Given the description of an element on the screen output the (x, y) to click on. 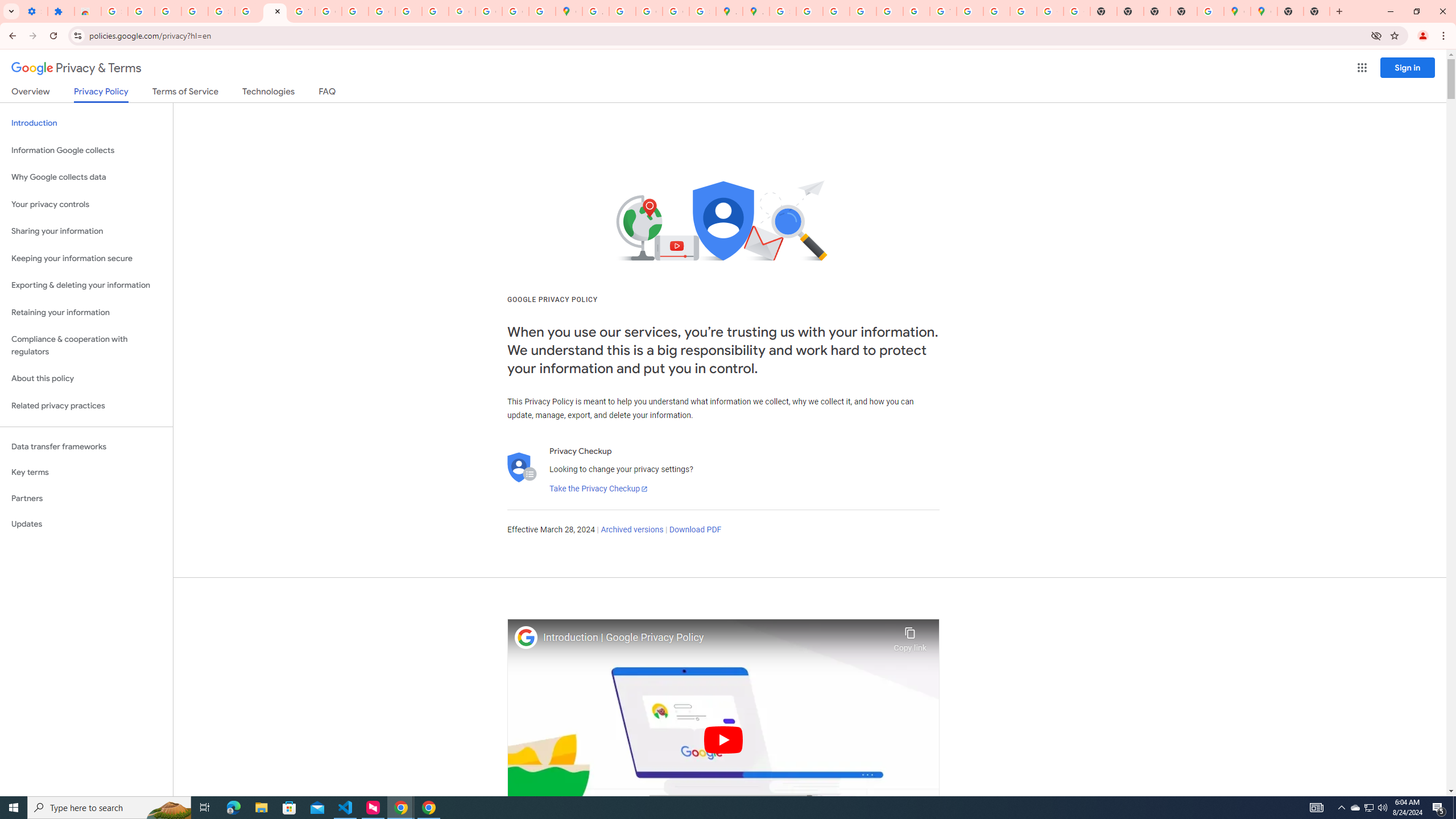
Sign in - Google Accounts (114, 11)
Archived versions (631, 529)
Your privacy controls (86, 204)
